Given the description of an element on the screen output the (x, y) to click on. 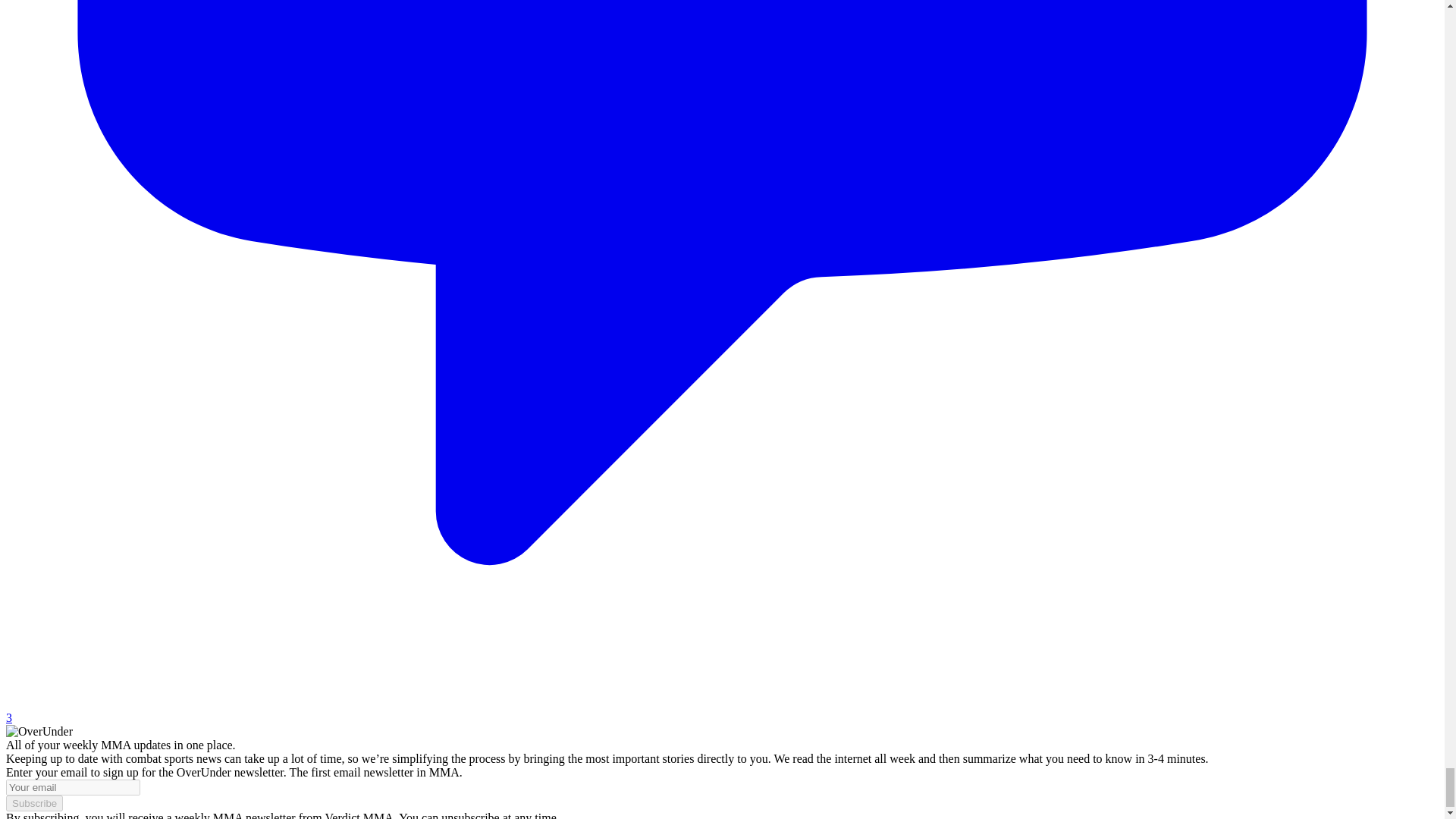
Subscribe (33, 803)
